Given the description of an element on the screen output the (x, y) to click on. 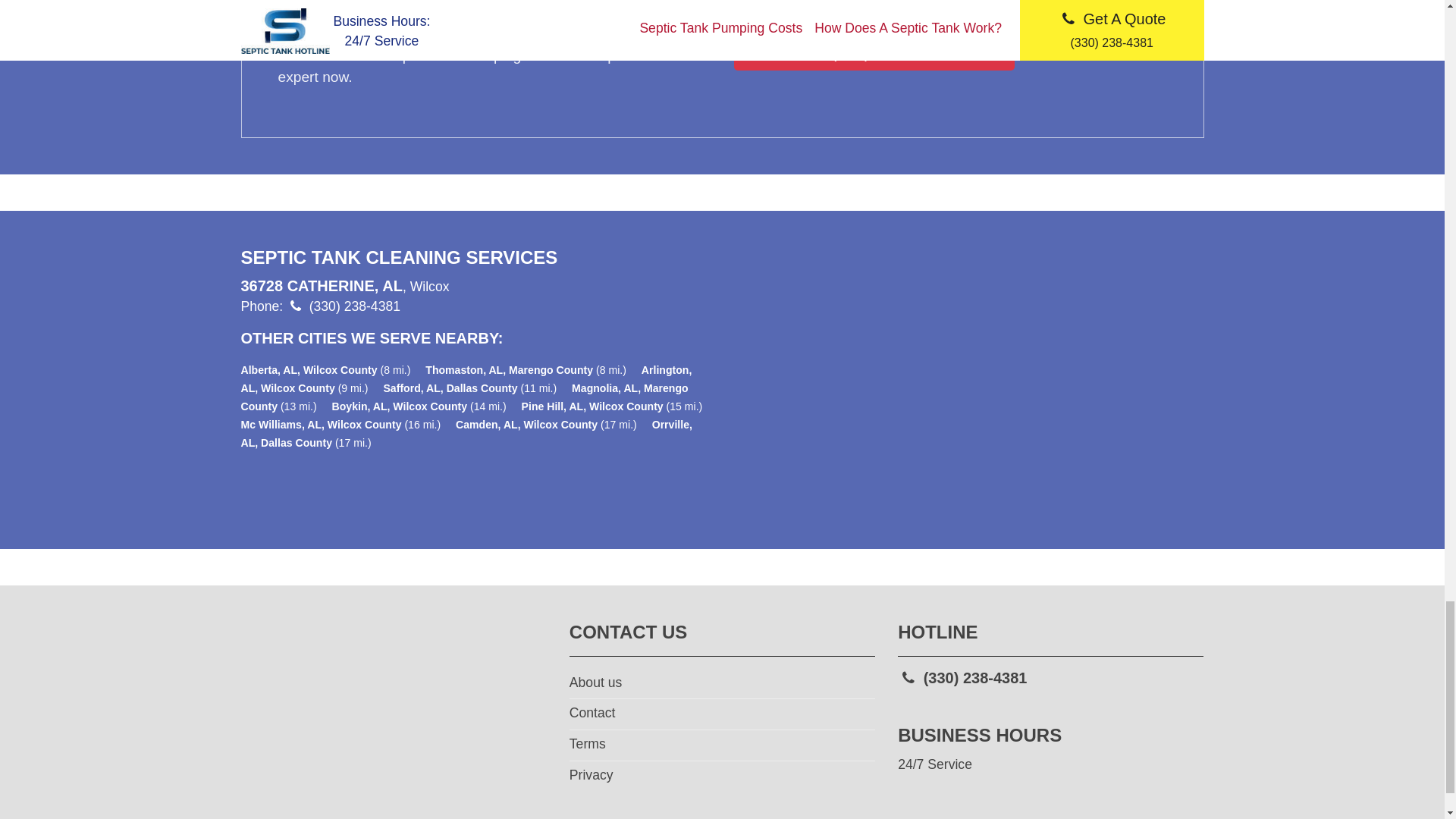
Terms (722, 745)
Septic Tank Hotline (393, 694)
Boykin, AL, Wilcox County (399, 406)
Contact (722, 714)
Pine Hill, AL, Wilcox County (592, 406)
Privacy (722, 776)
Call a Septic Tank Pumping (873, 51)
Magnolia, AL, Marengo County (464, 397)
Camden, AL, Wilcox County (525, 424)
About us (722, 684)
Alberta, AL, Wilcox County (309, 369)
Orrville, AL, Dallas County (467, 433)
Safford, AL, Dallas County (449, 387)
Arlington, AL, Wilcox County (467, 378)
Mc Williams, AL, Wilcox County (321, 424)
